Given the description of an element on the screen output the (x, y) to click on. 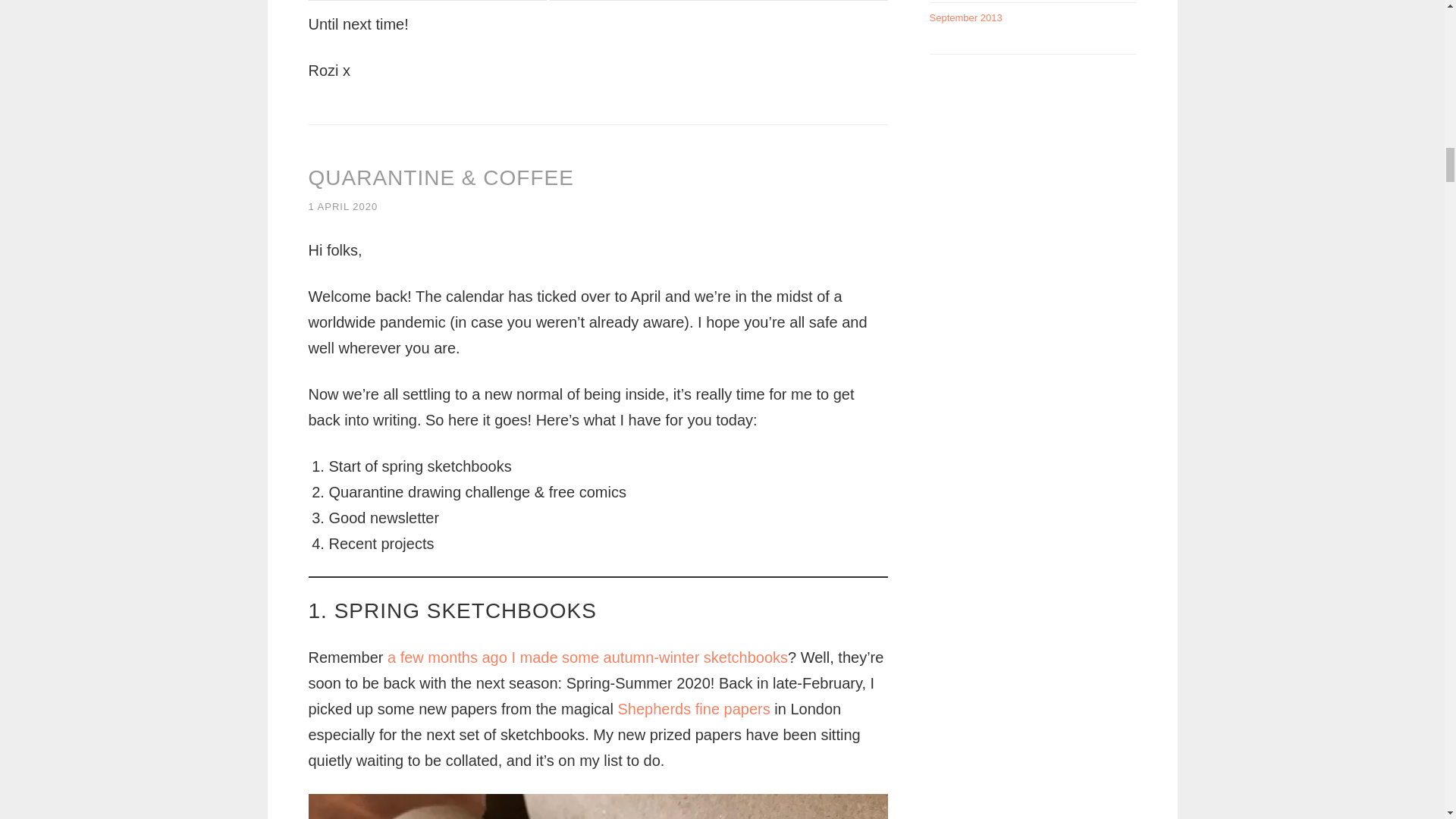
Shepherds fine papers (693, 709)
a few months ago I made some autumn-winter sketchbooks (587, 657)
1 APRIL 2020 (342, 206)
